Given the description of an element on the screen output the (x, y) to click on. 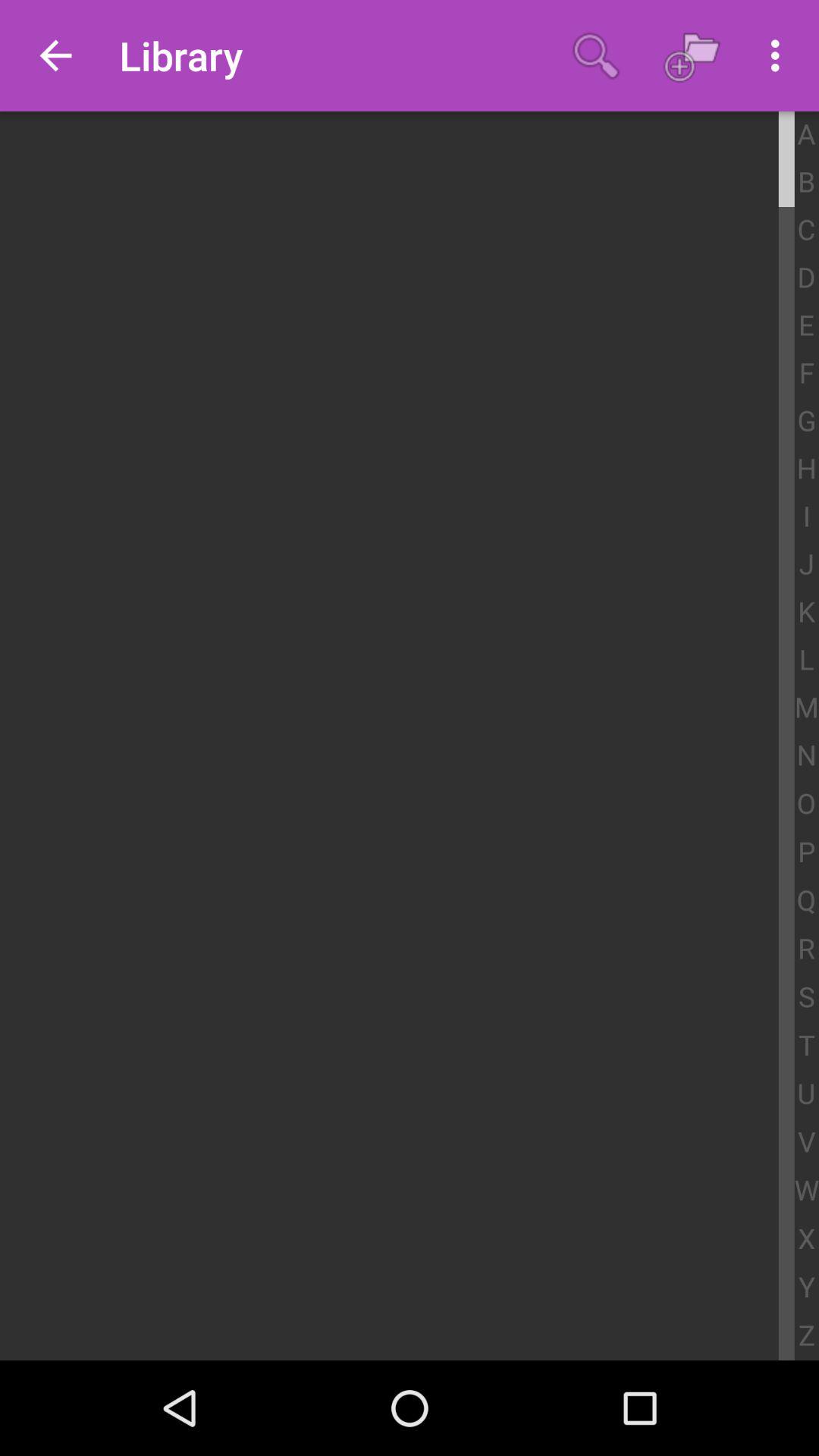
turn off s item (806, 997)
